Given the description of an element on the screen output the (x, y) to click on. 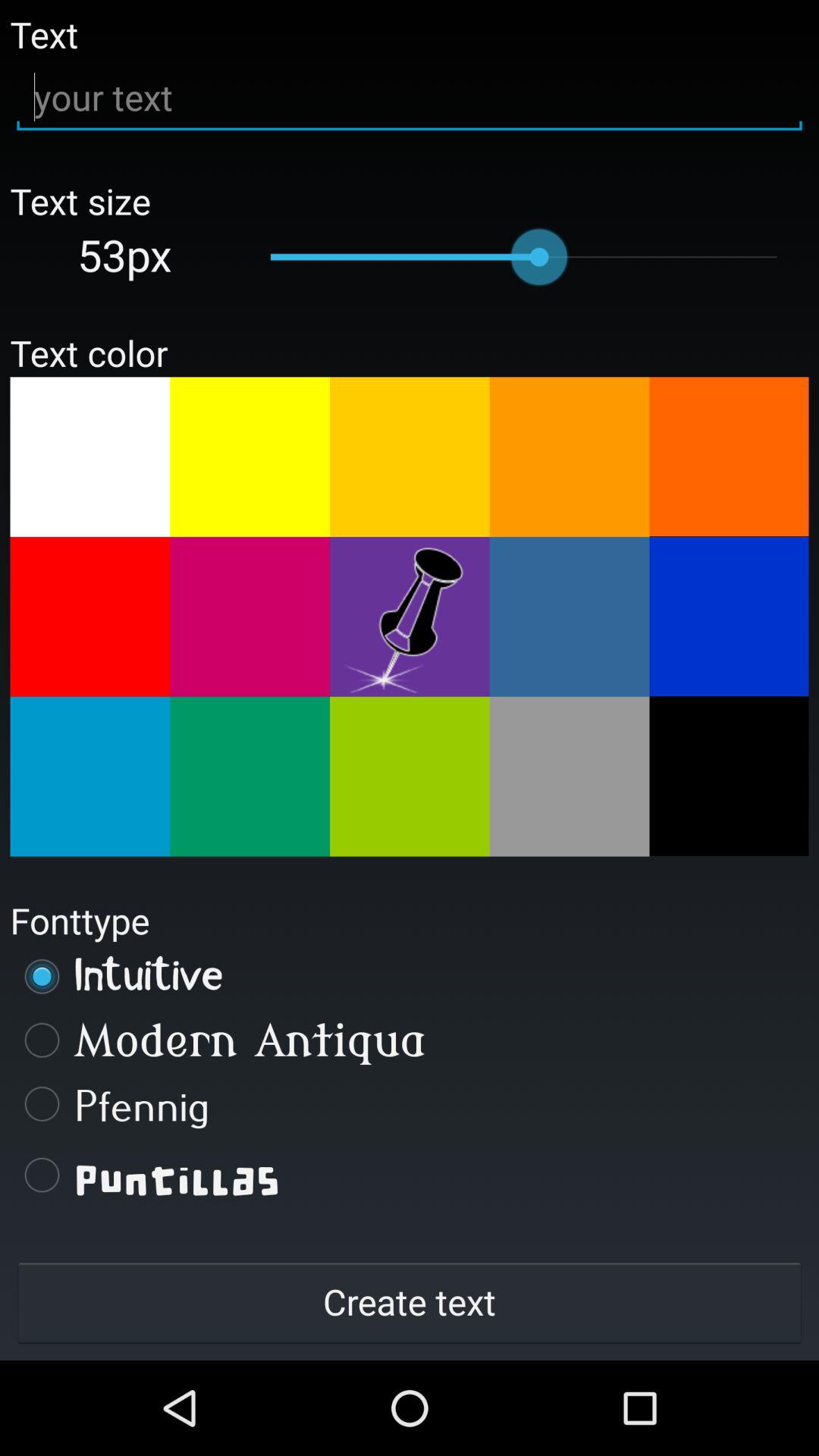
select magenta color (249, 616)
